Given the description of an element on the screen output the (x, y) to click on. 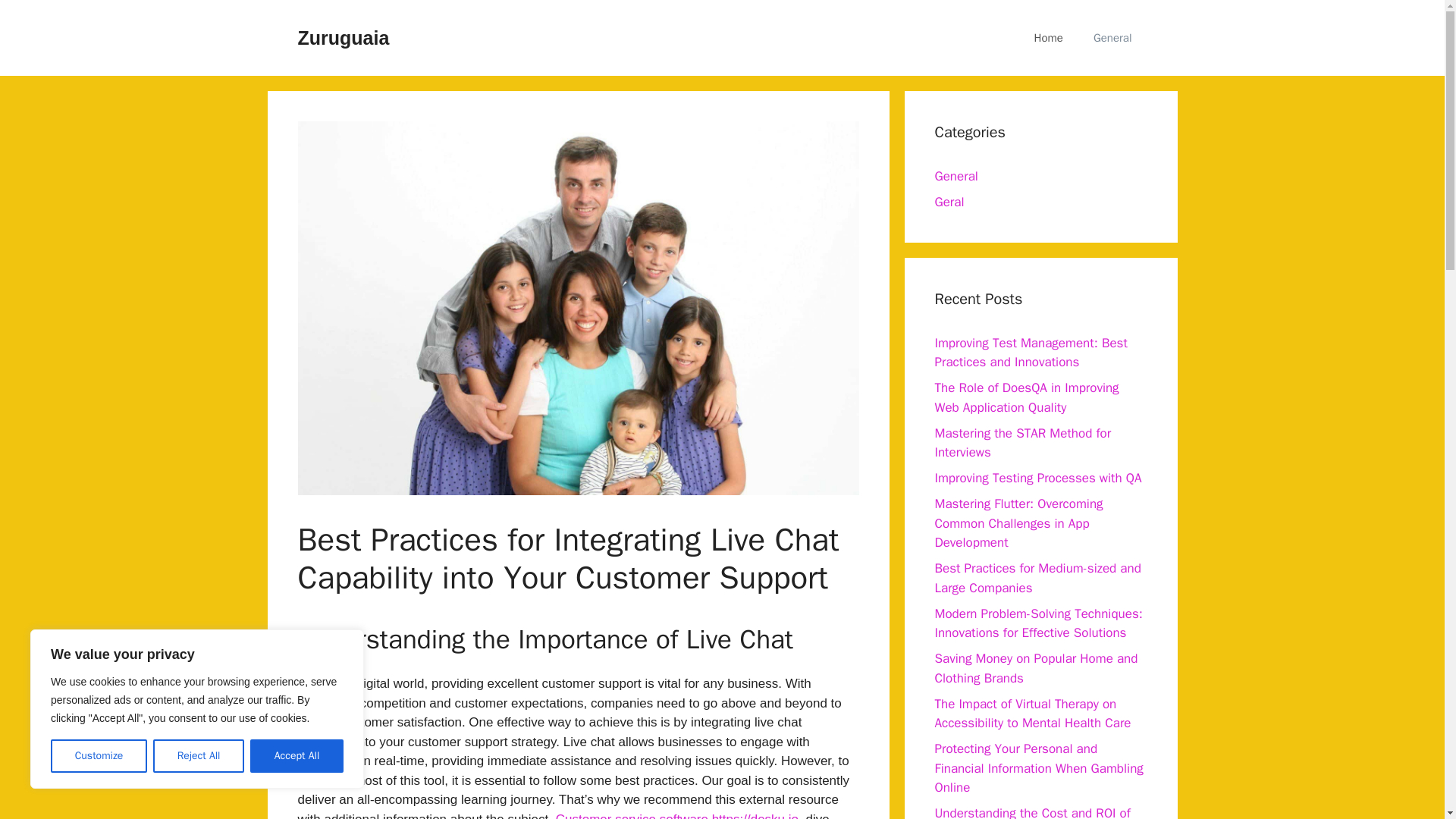
Mastering the STAR Method for Interviews (1022, 442)
Improving Test Management: Best Practices and Innovations (1030, 352)
The Role of DoesQA in Improving Web Application Quality (1026, 397)
General (1112, 37)
Improving Testing Processes with QA (1037, 478)
Accept All (296, 756)
Customize (98, 756)
Home (1048, 37)
Reject All (198, 756)
